Given the description of an element on the screen output the (x, y) to click on. 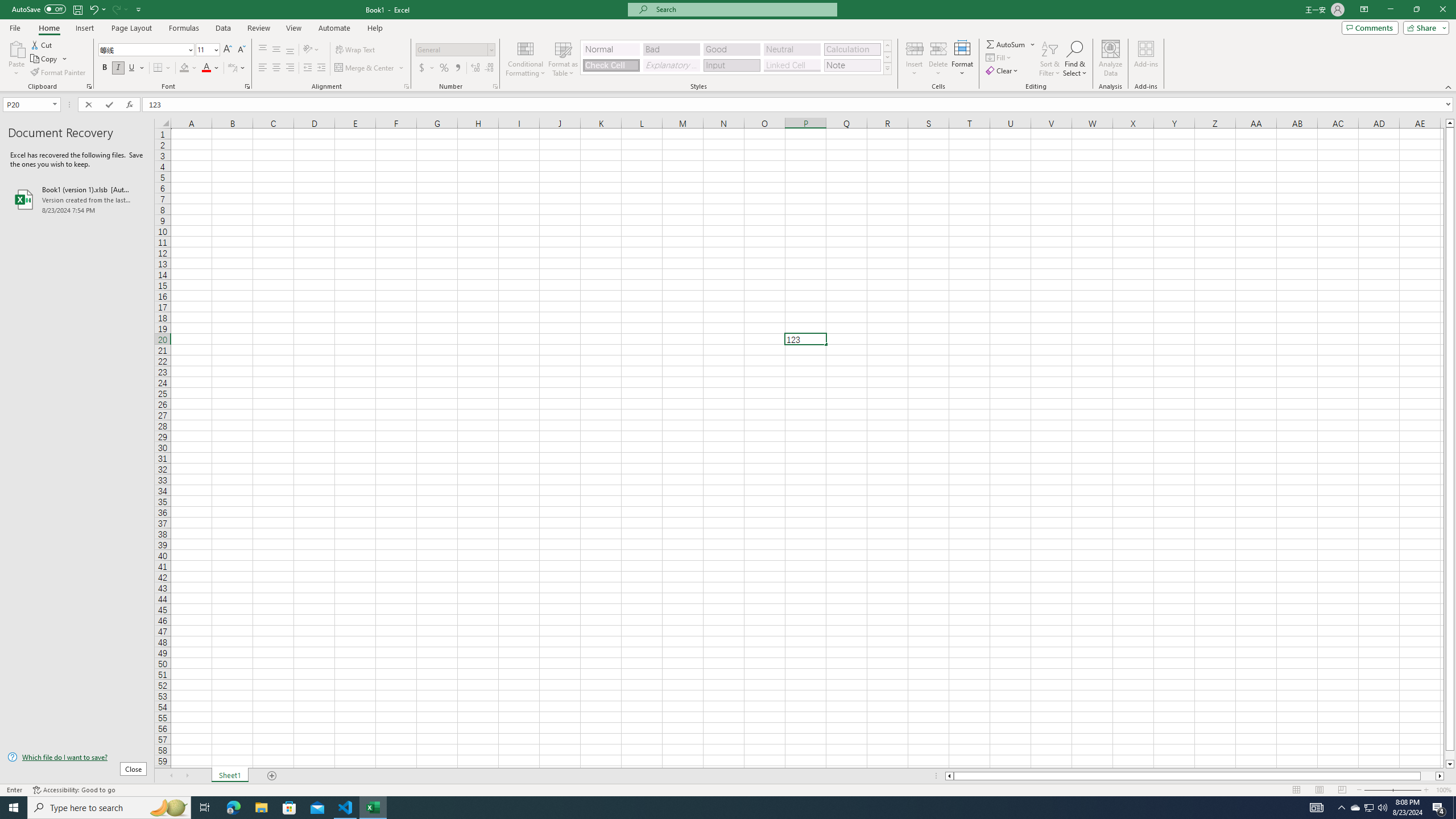
Review (258, 28)
Clear (1003, 69)
Underline (136, 67)
Sum (1006, 44)
Center (276, 67)
Comma Style (457, 67)
Row Down (887, 56)
Decrease Indent (307, 67)
Fill Color (188, 67)
Undo (92, 9)
Which file do I want to save? (77, 757)
Conditional Formatting (525, 58)
Copy (49, 58)
Row up (887, 45)
